Given the description of an element on the screen output the (x, y) to click on. 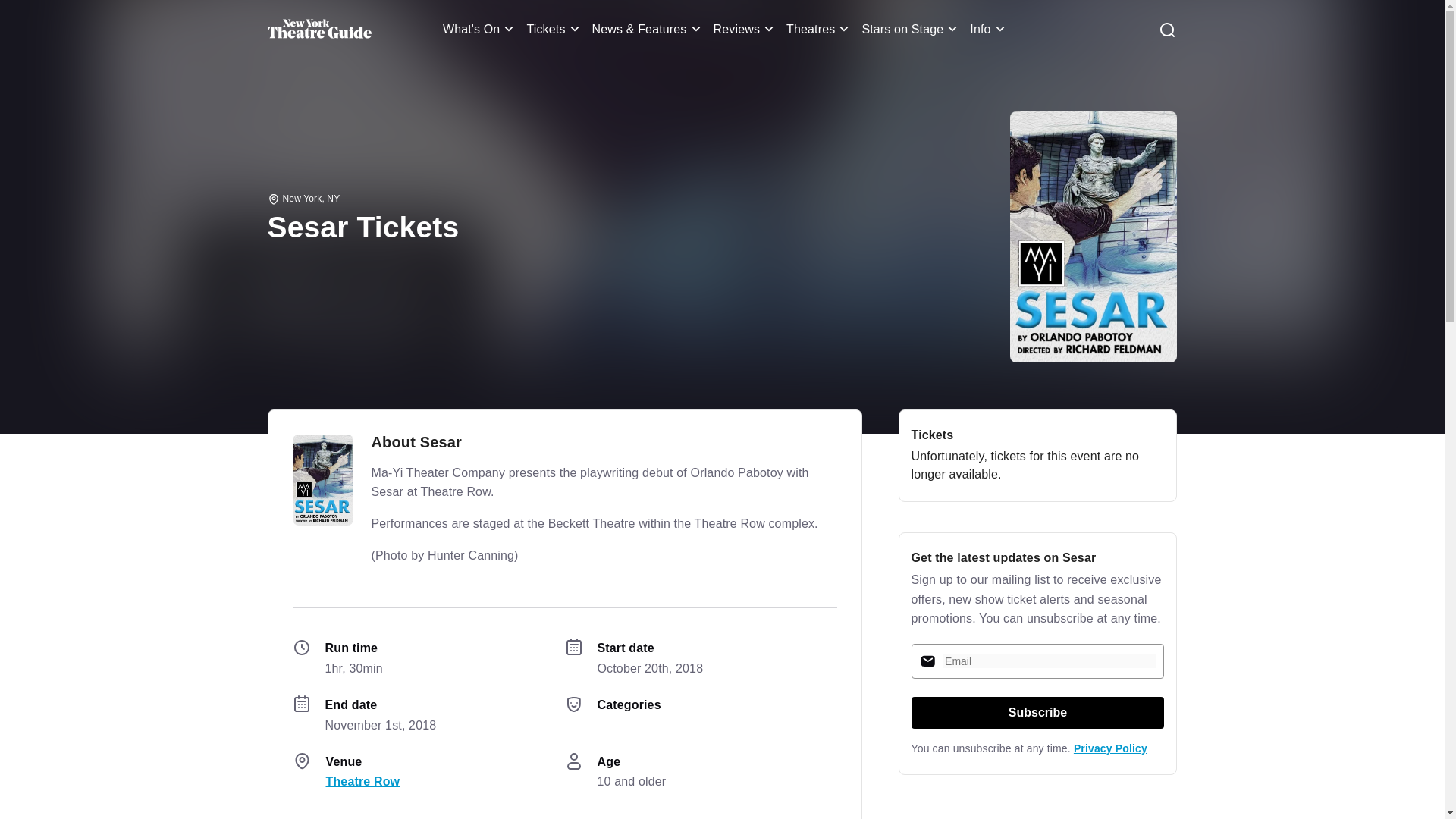
Theatres (819, 28)
Tickets (554, 28)
Reviews (745, 28)
Home (318, 28)
What's On (480, 28)
